Given the description of an element on the screen output the (x, y) to click on. 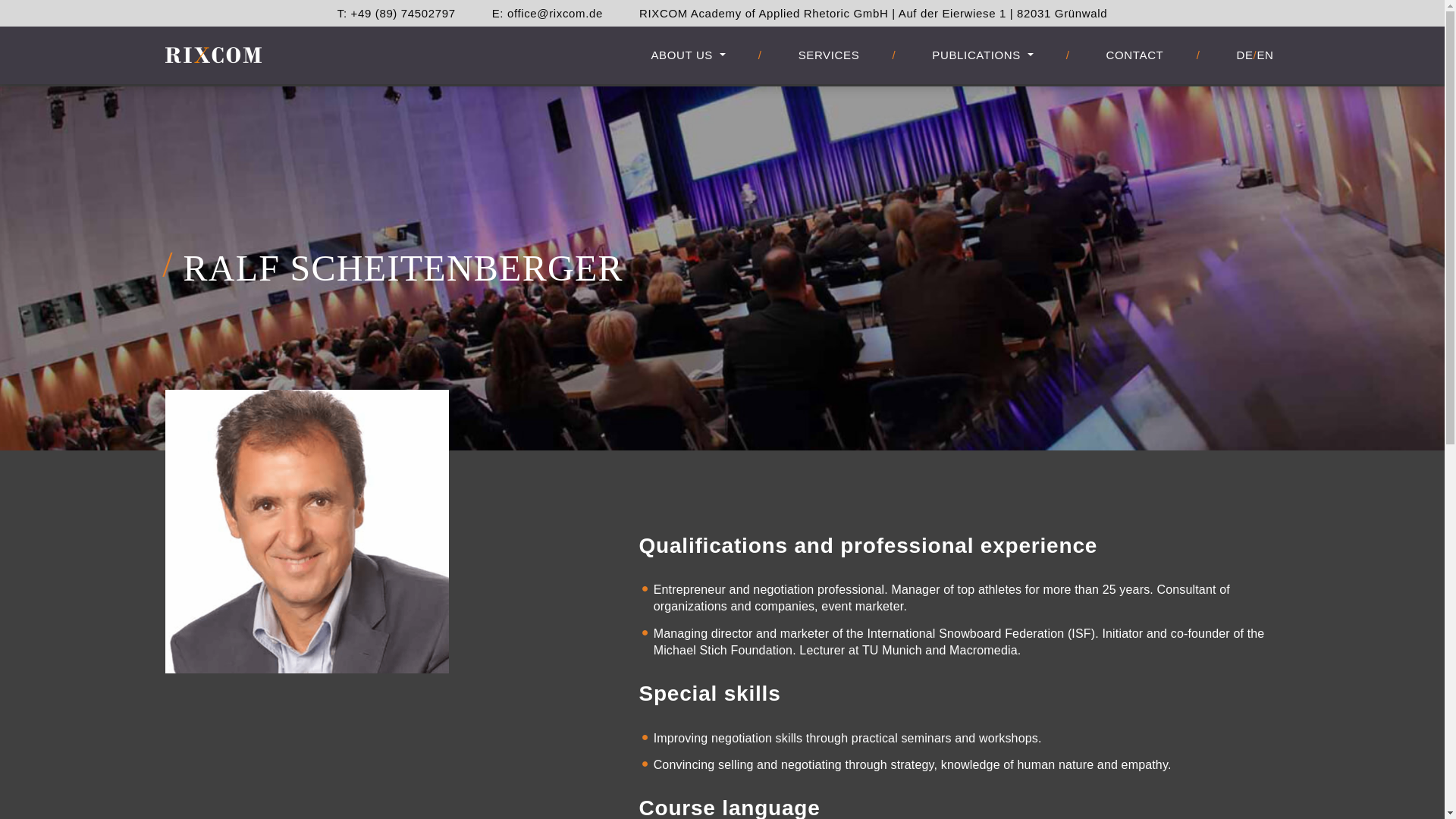
CONTACT (1135, 54)
PUBLICATIONS (982, 54)
ABOUT US (687, 54)
SERVICES (829, 54)
